Given the description of an element on the screen output the (x, y) to click on. 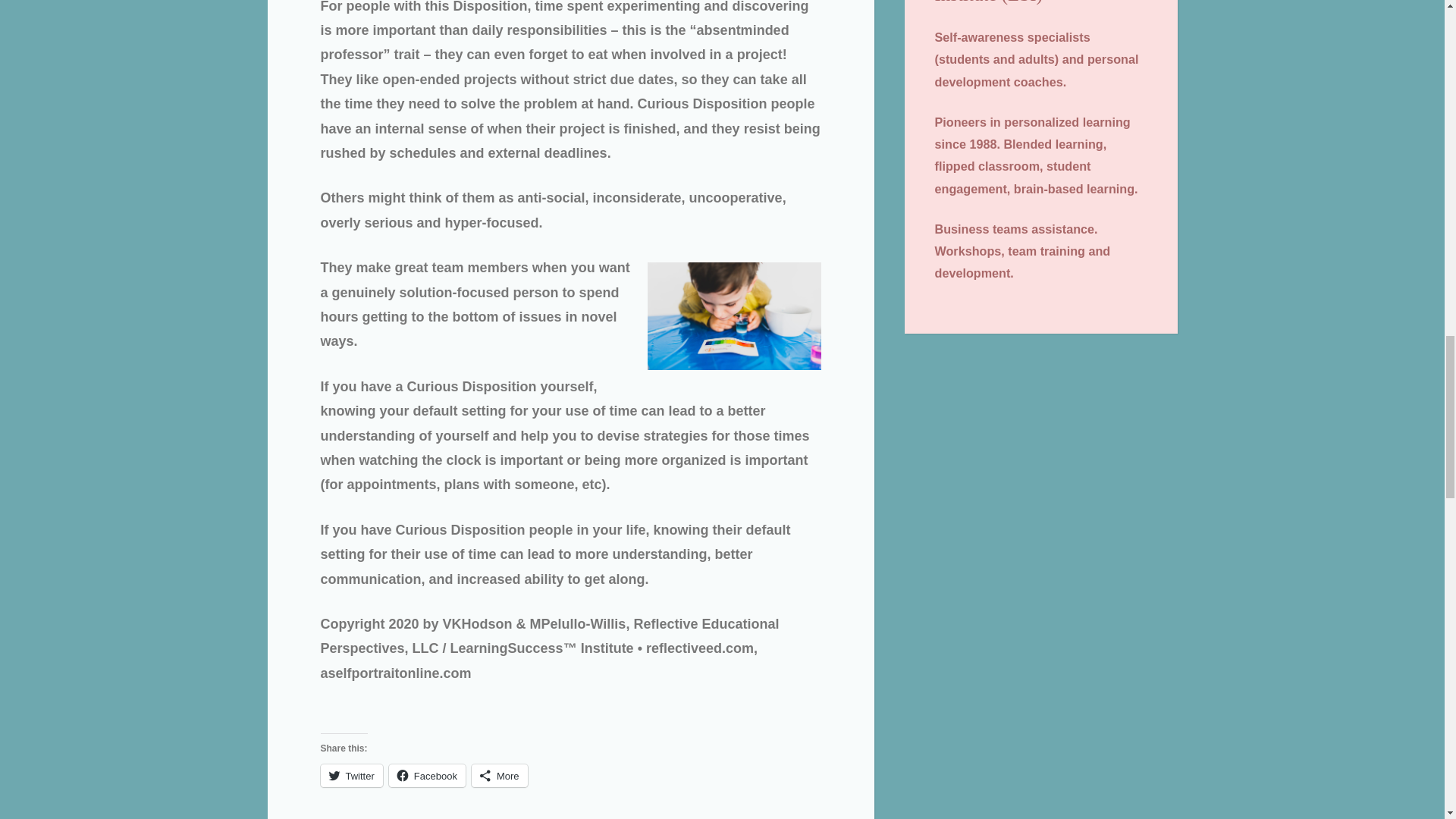
Click to share on Twitter (350, 775)
Click to share on Facebook (426, 775)
